Given the description of an element on the screen output the (x, y) to click on. 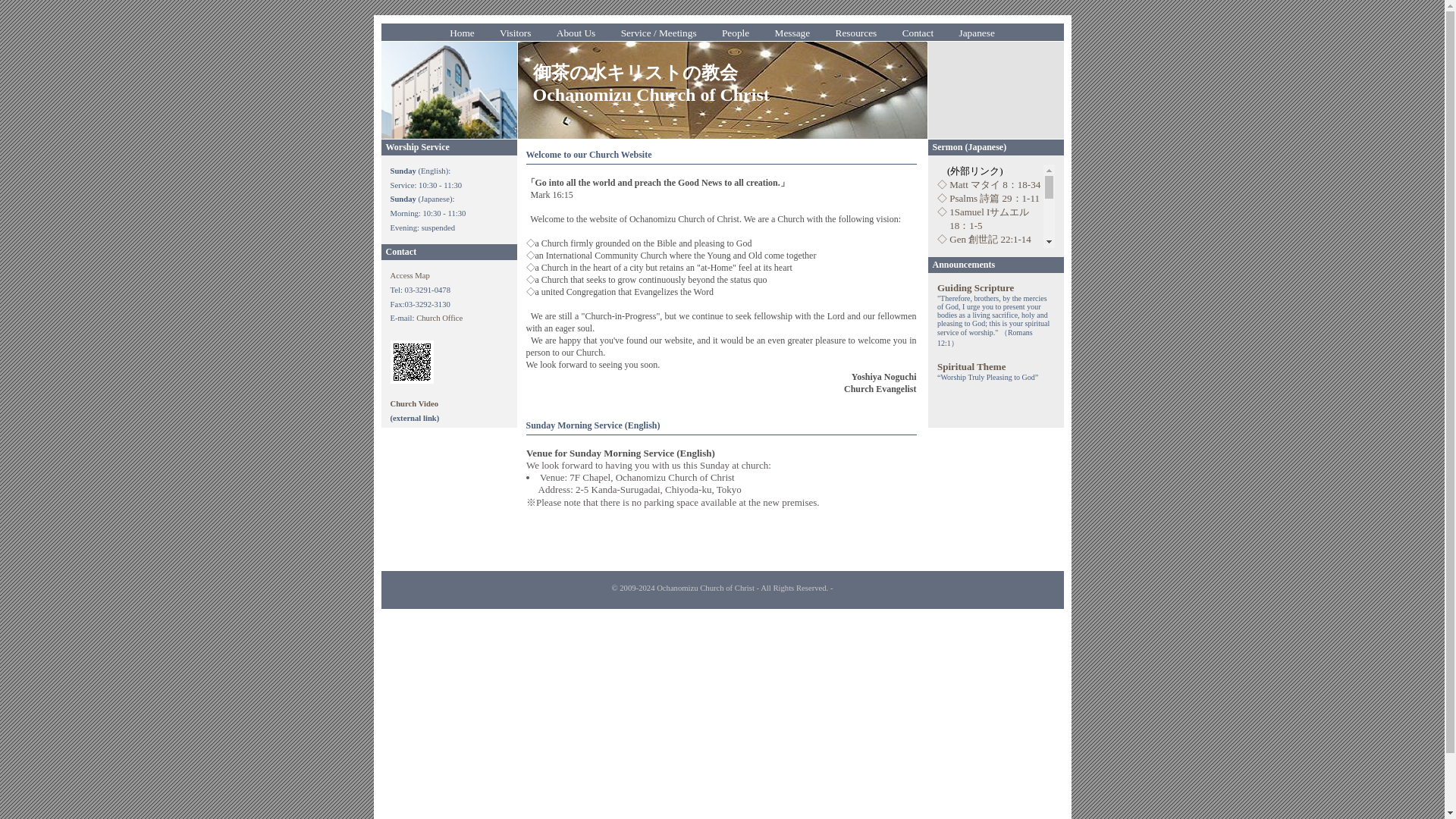
Resources (856, 32)
Home (462, 32)
Visitors (514, 32)
People (735, 32)
Message (792, 32)
Church Office (439, 317)
Access Map (409, 275)
Contact (917, 32)
Japanese (976, 32)
About Us (575, 32)
